Given the description of an element on the screen output the (x, y) to click on. 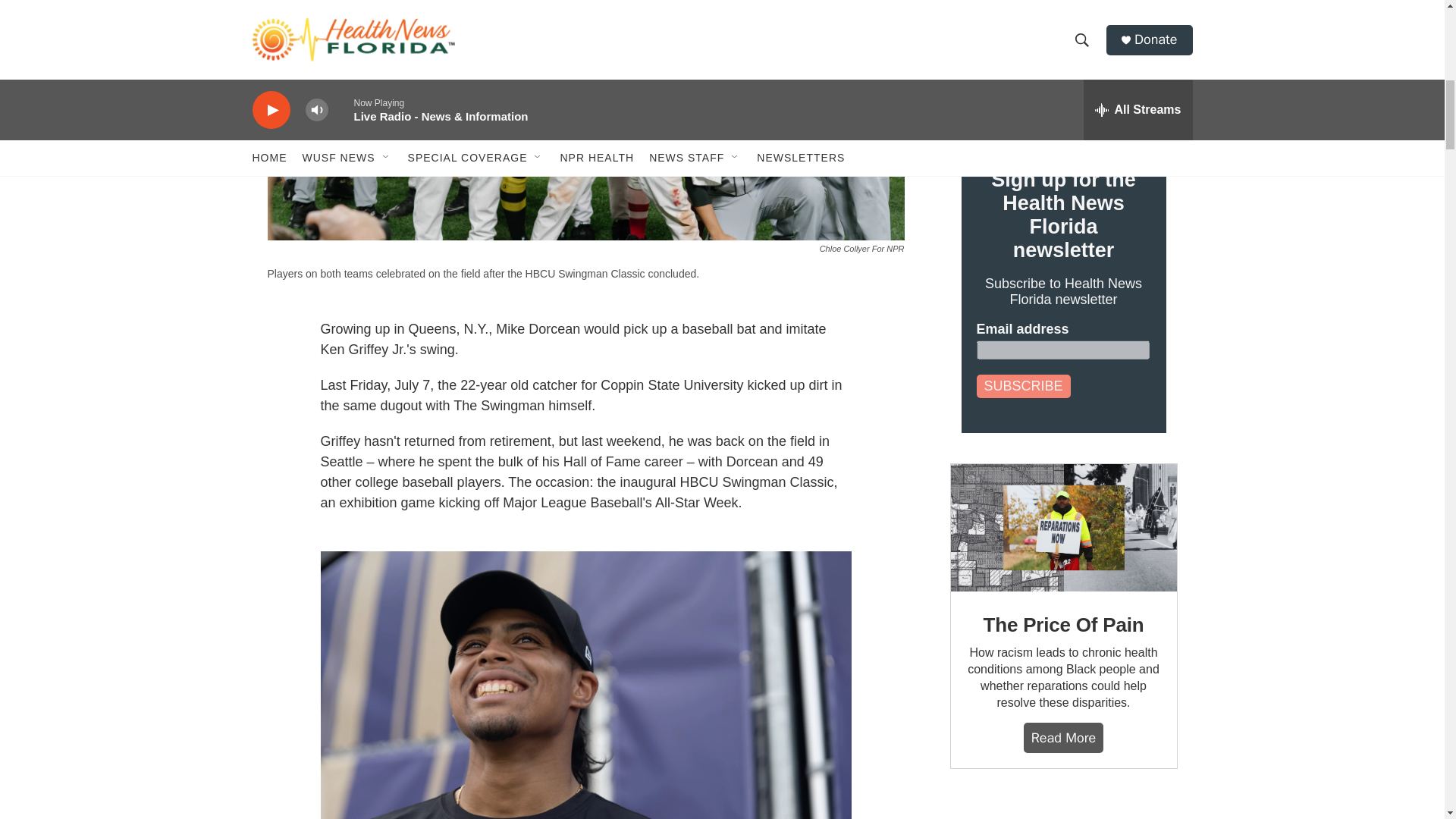
3rd party ad content (1062, 809)
